Given the description of an element on the screen output the (x, y) to click on. 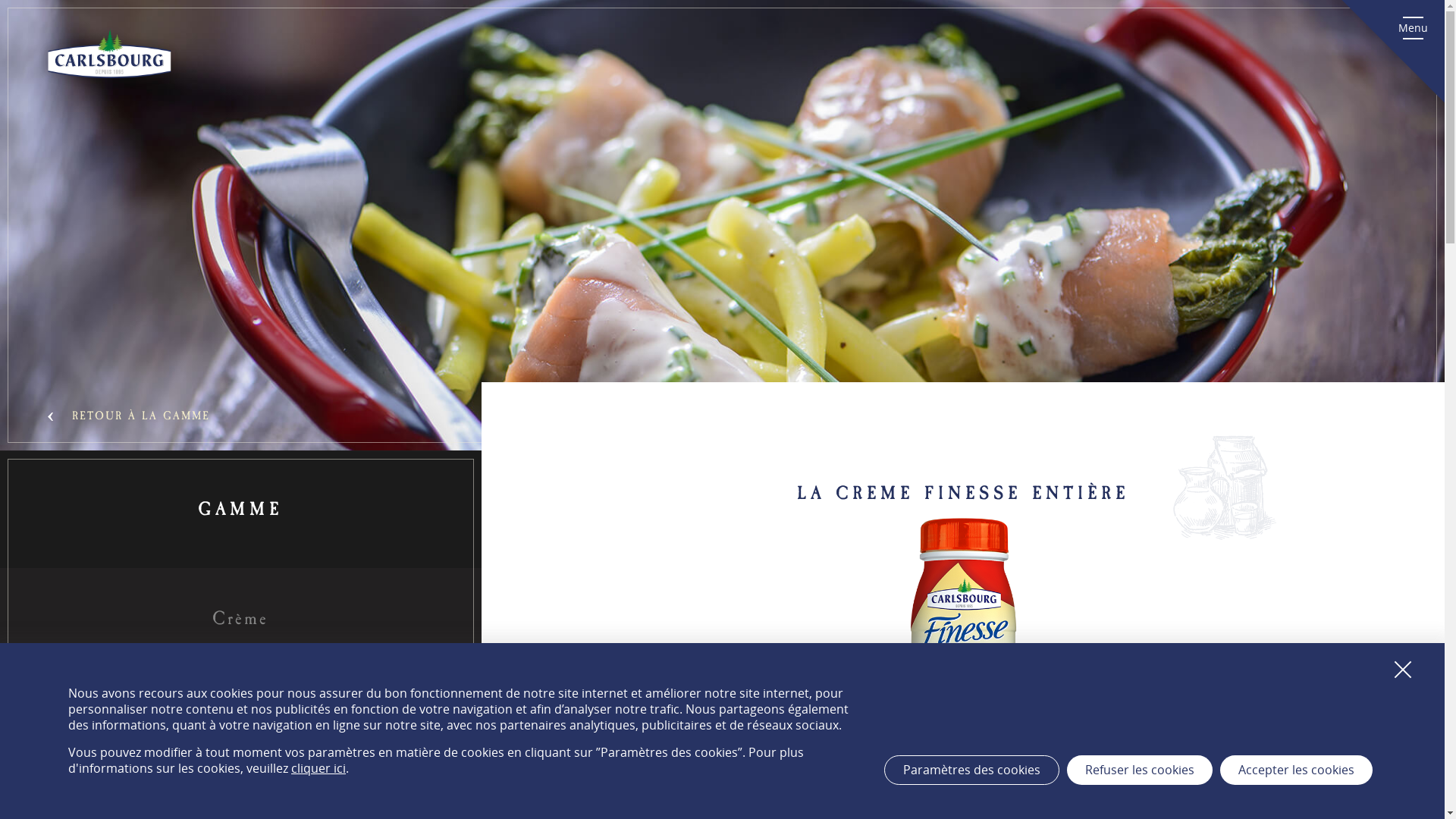
Accepter les cookies Element type: text (1296, 769)
cliquer ici Element type: text (318, 767)
NL Element type: text (1422, 754)
Menu Element type: text (1412, 27)
Beurre Element type: text (240, 688)
Refuser les cookies Element type: text (1139, 769)
